Given the description of an element on the screen output the (x, y) to click on. 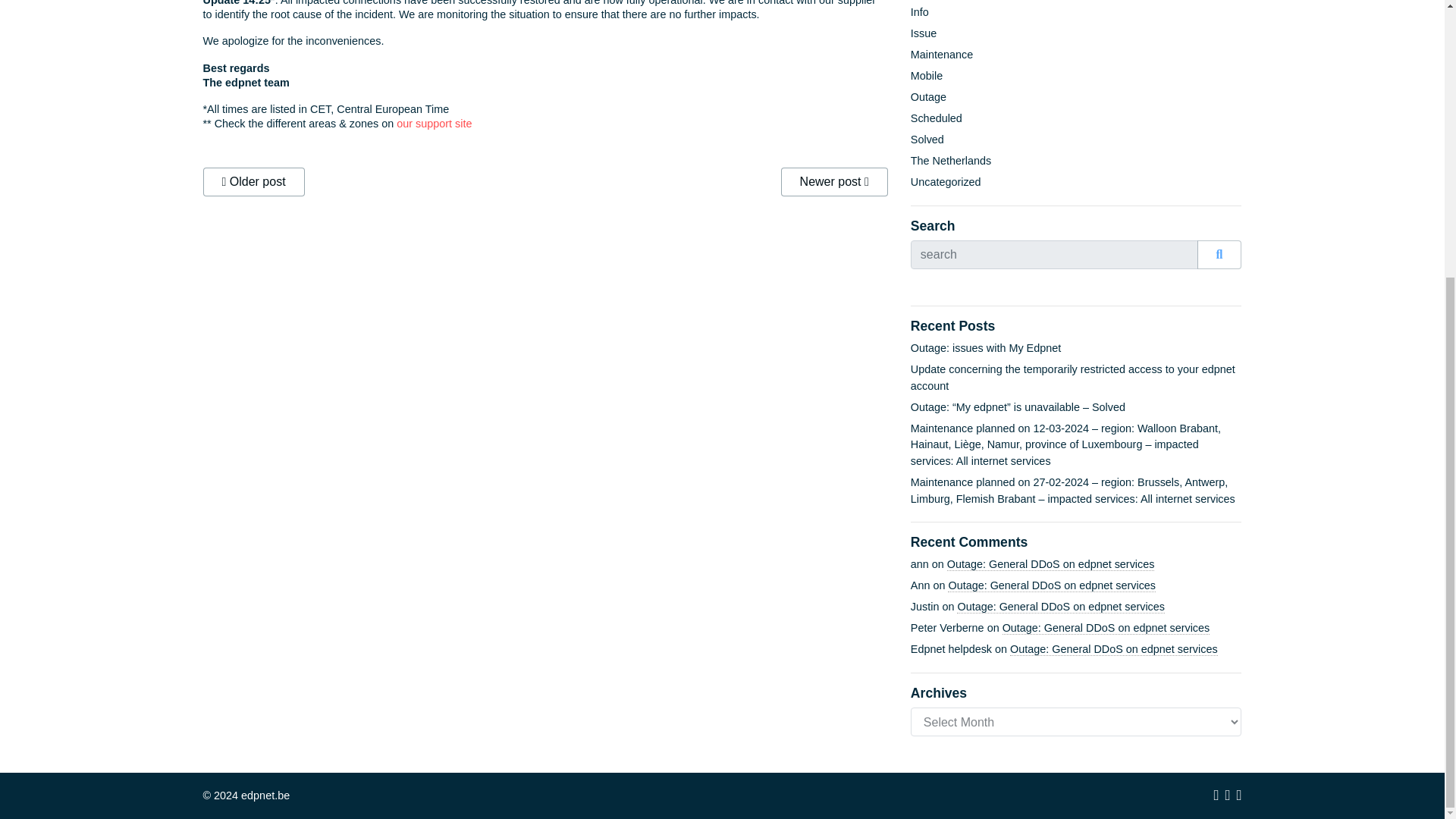
Info (919, 11)
Mobile (926, 75)
Outage: General DDoS on edpnet services (1060, 606)
Solved (927, 139)
Outage: issues with My Edpnet (986, 347)
Maintenance (941, 54)
Outage: General DDoS on edpnet services (1050, 563)
Newer post (834, 181)
Uncategorized (946, 182)
Outage: General DDoS on edpnet services (1051, 585)
Outage: General DDoS on edpnet services (1113, 649)
Scheduled (936, 118)
our support site (433, 123)
Older post (253, 181)
Outage (928, 96)
